Given the description of an element on the screen output the (x, y) to click on. 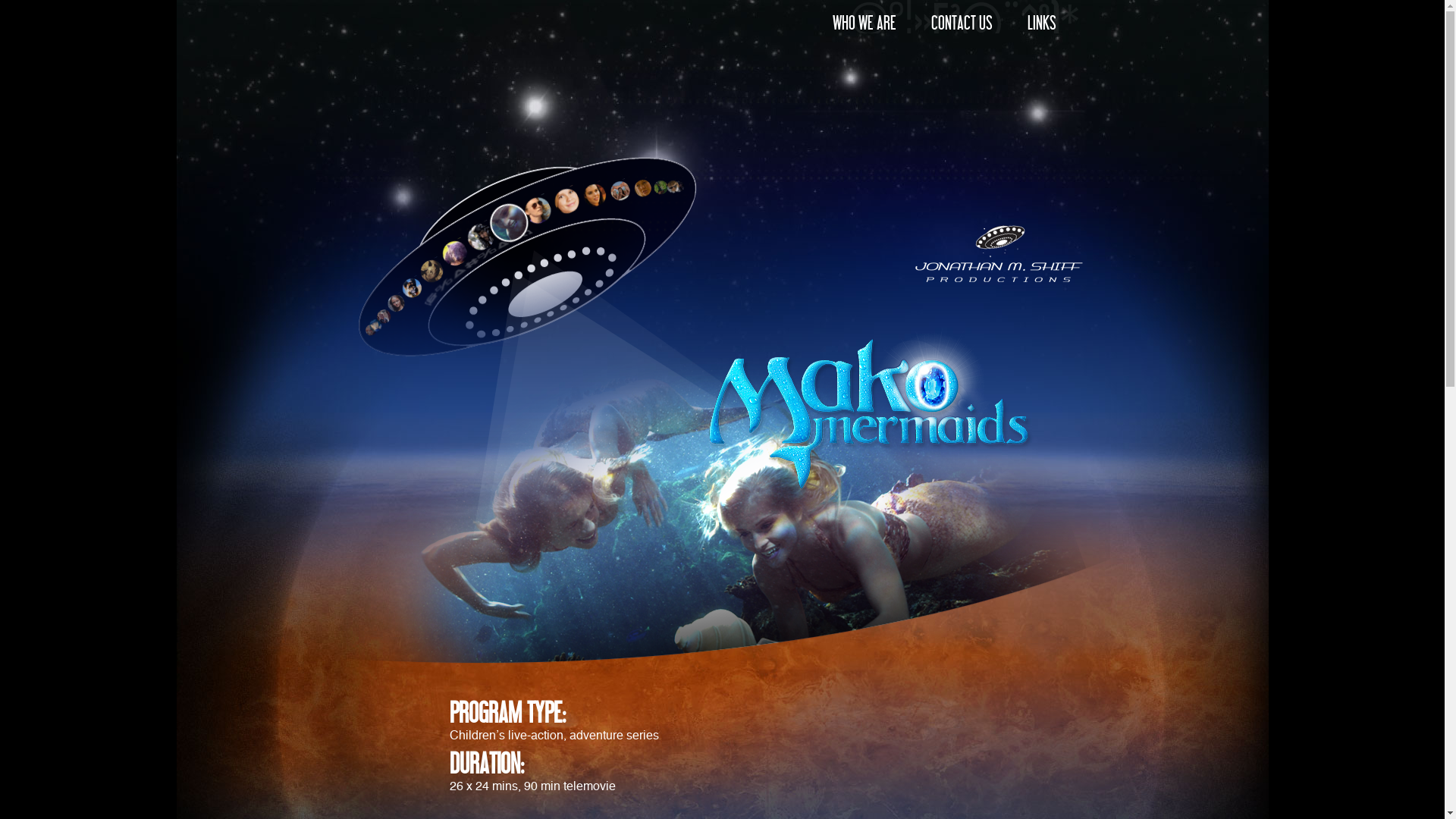
Cybergirl Element type: hover (373, 328)
THUNDERSTONE Element type: hover (381, 318)
Reef Doctors Element type: hover (533, 209)
WHO WE ARE Element type: text (864, 23)
Secret Animals Element type: hover (427, 272)
Lightning Point Element type: hover (562, 200)
The Lost Treasure of Fiji Element type: hover (638, 189)
My Zoo Element type: hover (450, 253)
Wicked Science Element type: hover (658, 189)
Elephant Princess Element type: hover (590, 195)
Jonathan M. Shift Productions Element type: text (998, 252)
Scooter Element type: hover (670, 188)
H20 - JUST ADD WATER Element type: hover (616, 191)
Pirate Islands Element type: hover (676, 188)
Kelly Element type: hover (407, 288)
Ocean Girl Element type: hover (392, 305)
LINKS Element type: text (1040, 23)
Horace & Tina Element type: hover (368, 332)
CONTACT US Element type: text (961, 23)
MakoMermaids Element type: hover (502, 220)
The Pandas Element type: hover (476, 238)
